Given the description of an element on the screen output the (x, y) to click on. 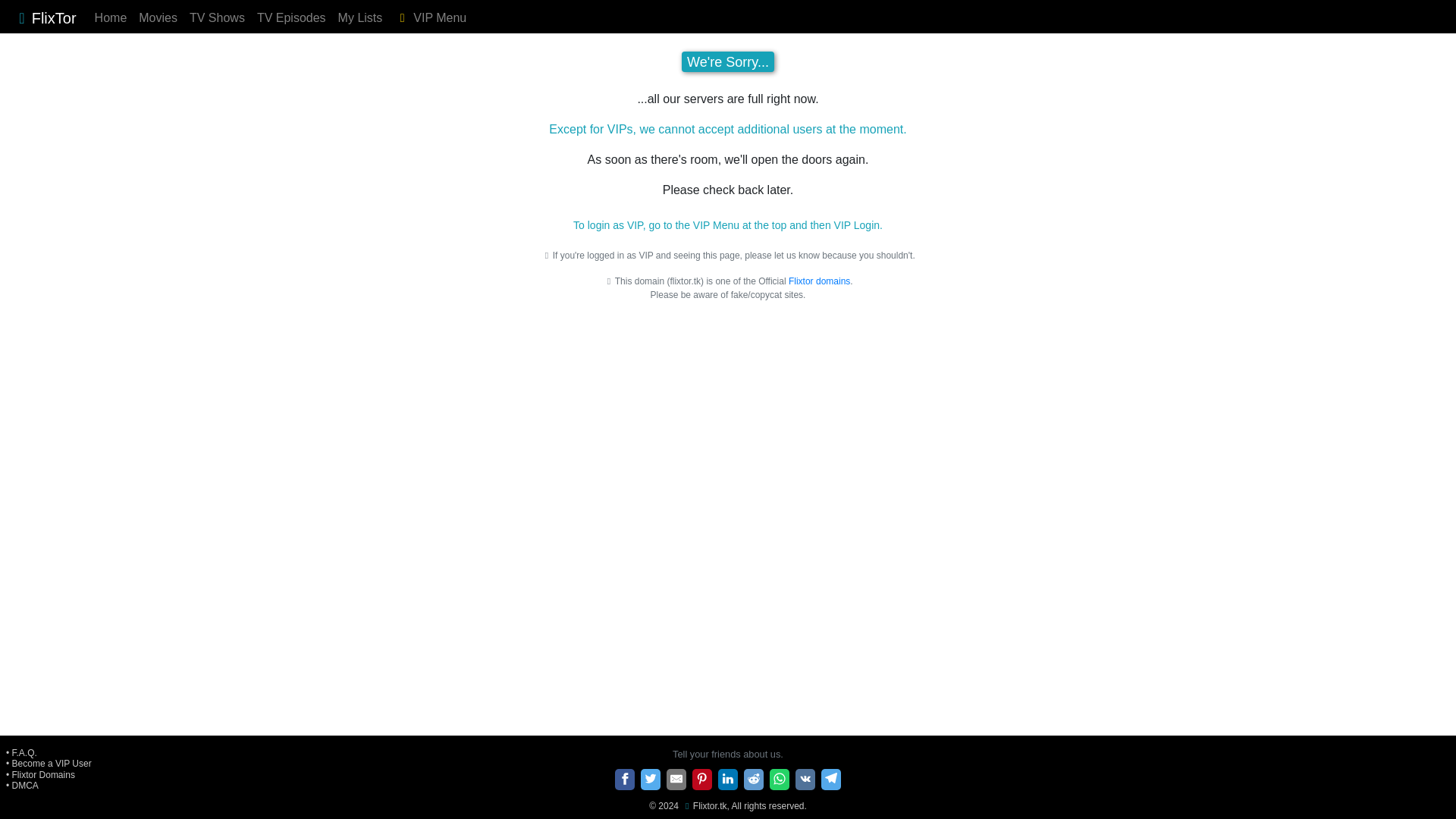
TV Shows (216, 18)
Movies (157, 18)
My Lists (359, 18)
VIP Menu (429, 18)
Flixtor domains (819, 281)
Home (110, 18)
TV Episodes (290, 18)
